Given the description of an element on the screen output the (x, y) to click on. 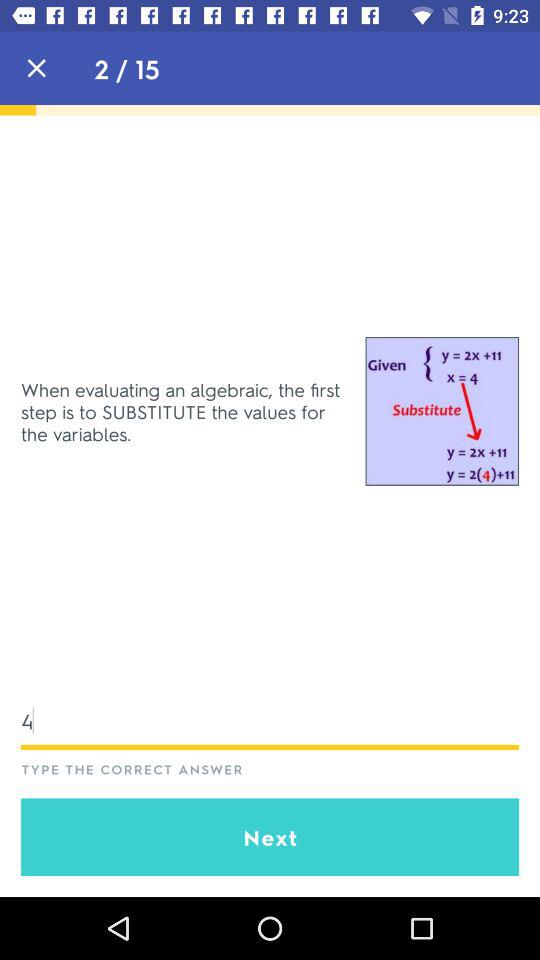
open the icon next to the 2 / 15 item (36, 68)
